Given the description of an element on the screen output the (x, y) to click on. 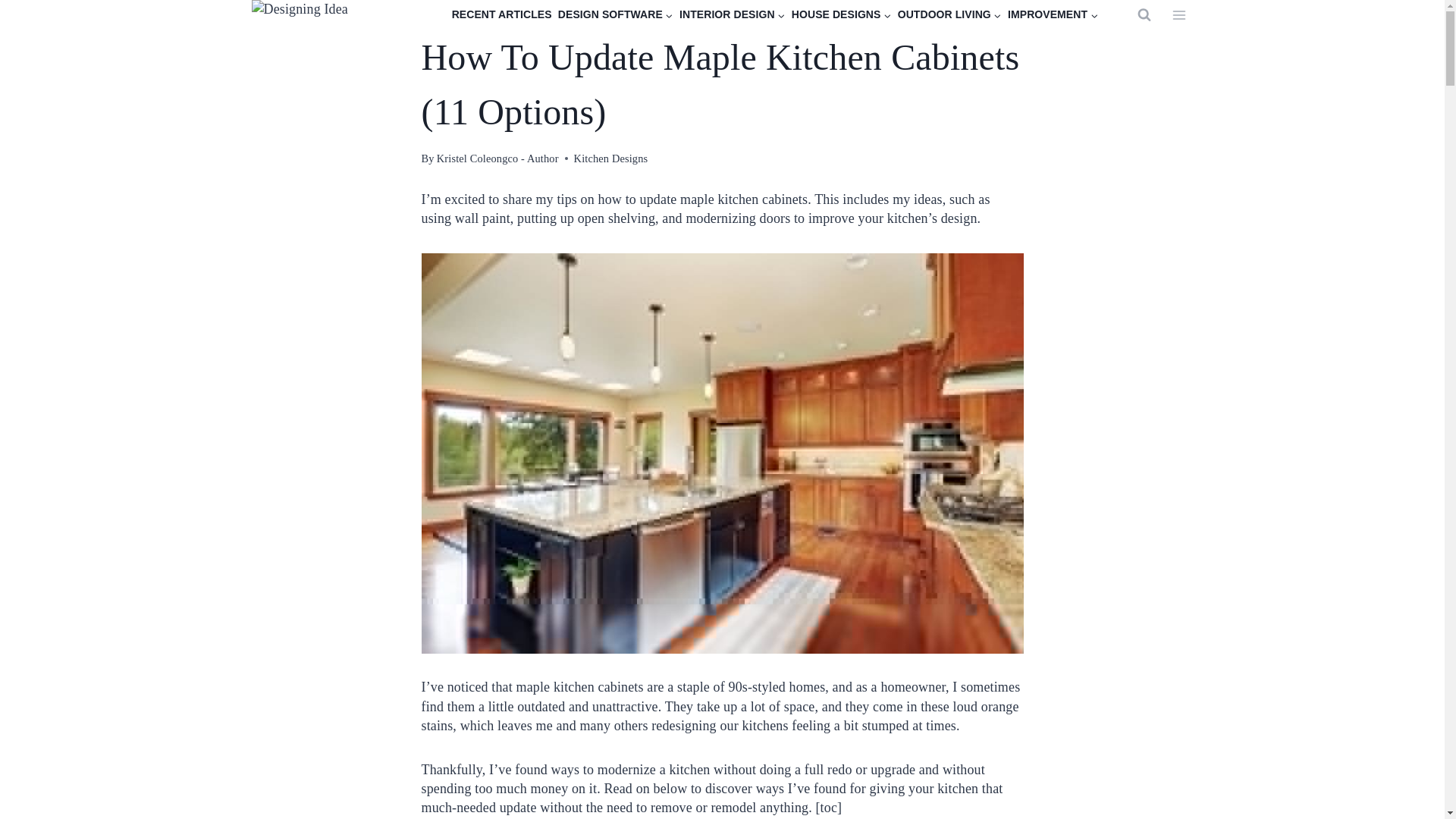
OUTDOOR LIVING (949, 14)
INTERIOR DESIGN (733, 14)
HOUSE DESIGNS (842, 14)
DESIGN SOFTWARE (615, 14)
IMPROVEMENT (1052, 14)
RECENT ARTICLES (501, 14)
